Given the description of an element on the screen output the (x, y) to click on. 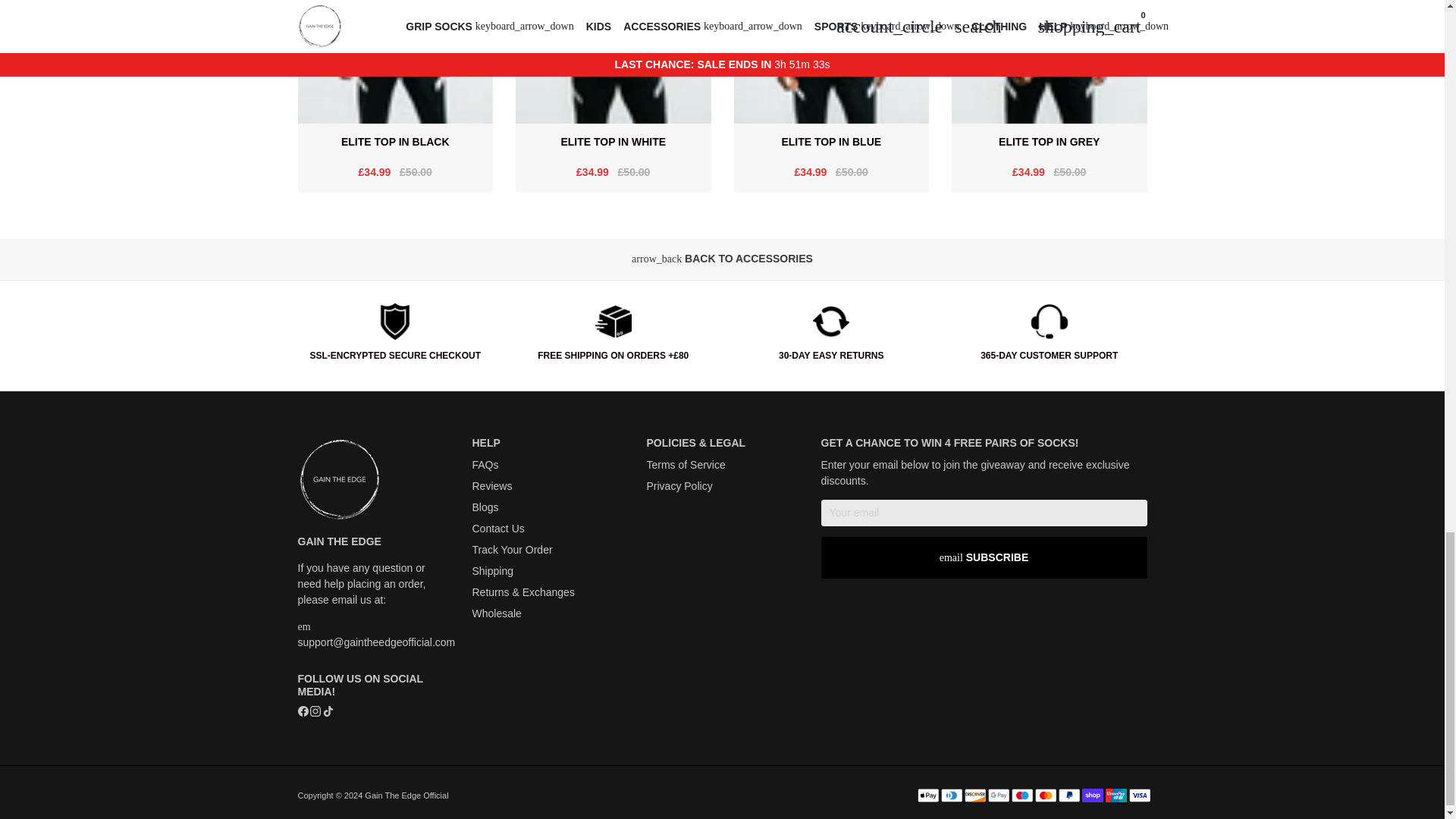
Maestro (1022, 795)
Visa (1139, 795)
Apple Pay (928, 795)
Shop Pay (1092, 795)
PayPal (1069, 795)
Google Pay (998, 795)
Union Pay (1115, 795)
Diners Club (951, 795)
Mastercard (1044, 795)
Discover (974, 795)
